Given the description of an element on the screen output the (x, y) to click on. 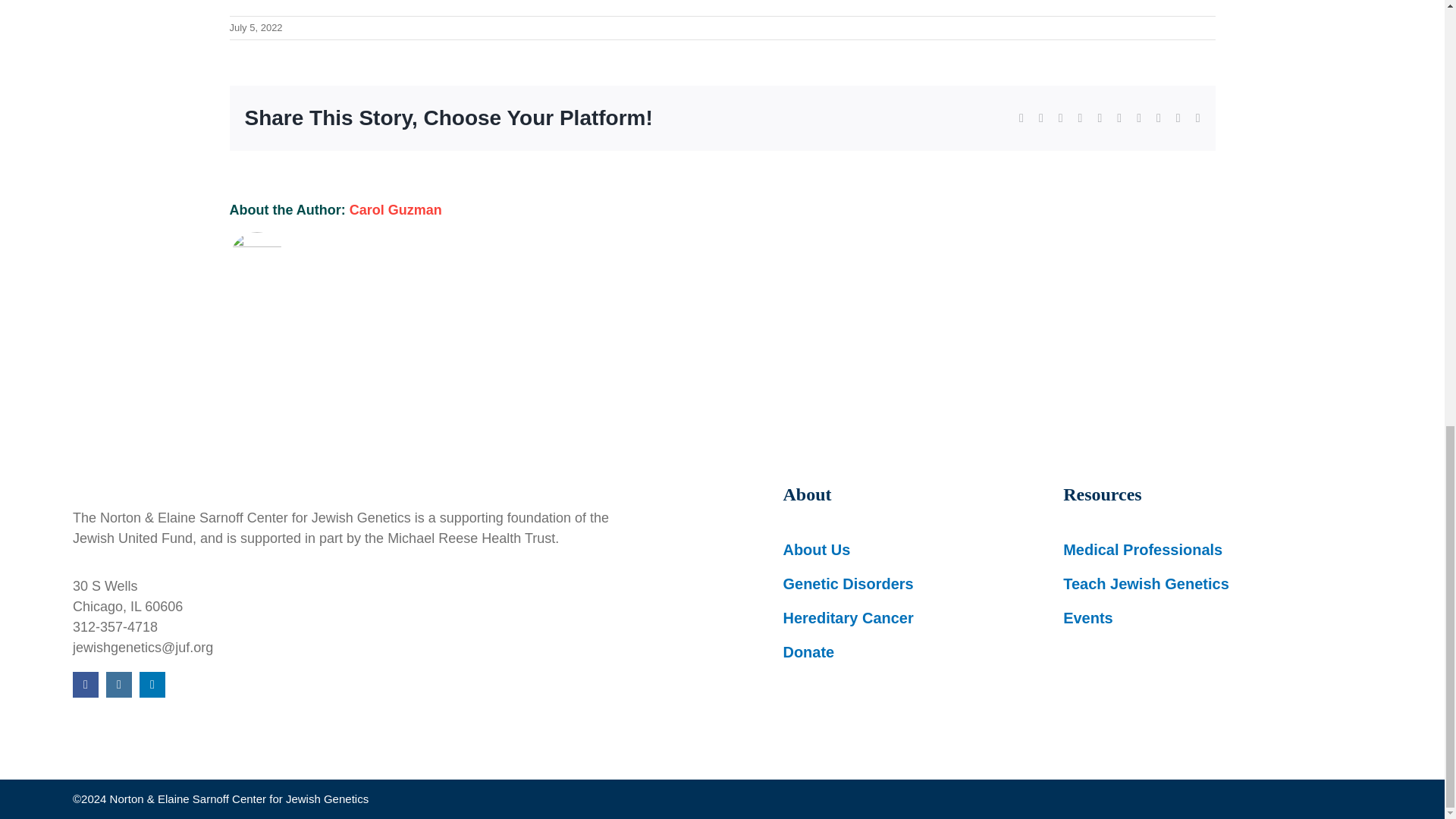
Facebook (85, 684)
Posts by Carol Guzman (395, 209)
jewishunitedfund-logo (299, 461)
